Given the description of an element on the screen output the (x, y) to click on. 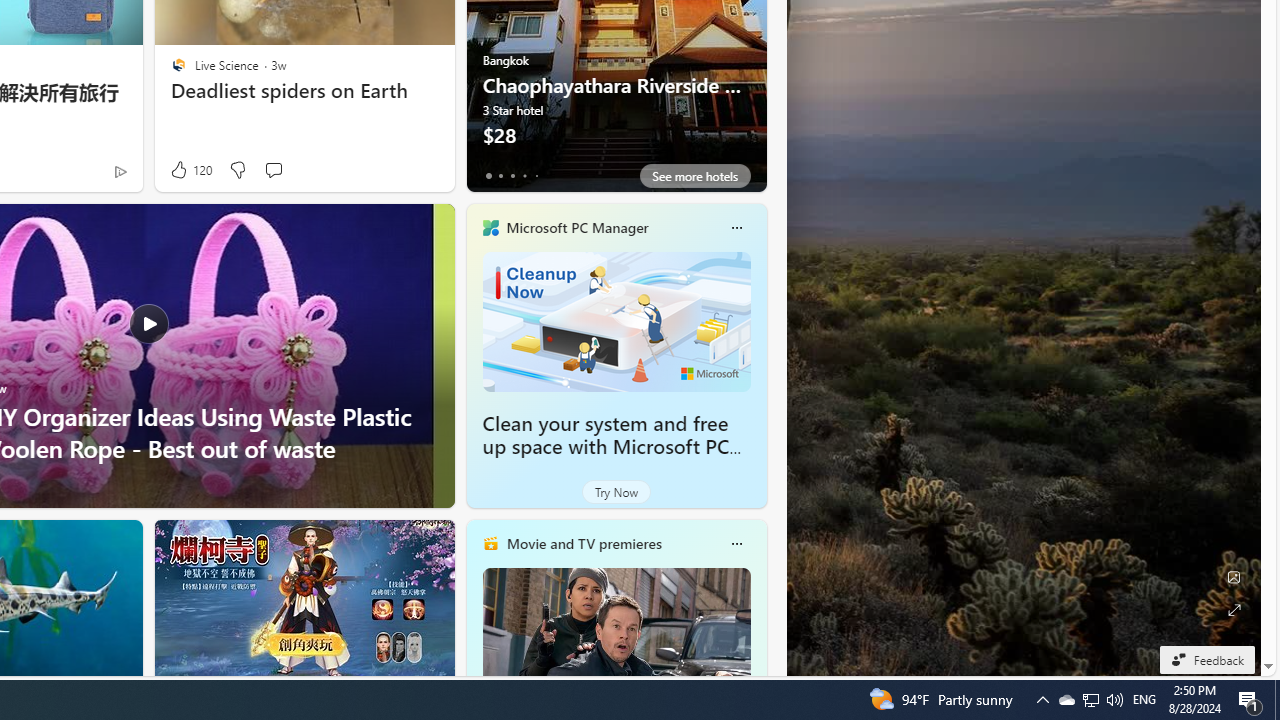
More options (736, 543)
120 Like (190, 170)
Dislike (237, 170)
tab-1 (500, 175)
See more hotels (694, 175)
Microsoft PC Manager (576, 227)
Movie and TV premieres (583, 543)
Start the conversation (273, 169)
tab-0 (488, 175)
Edit Background (1233, 577)
Try Now (616, 491)
tab-2 (511, 175)
Start the conversation (272, 170)
